Given the description of an element on the screen output the (x, y) to click on. 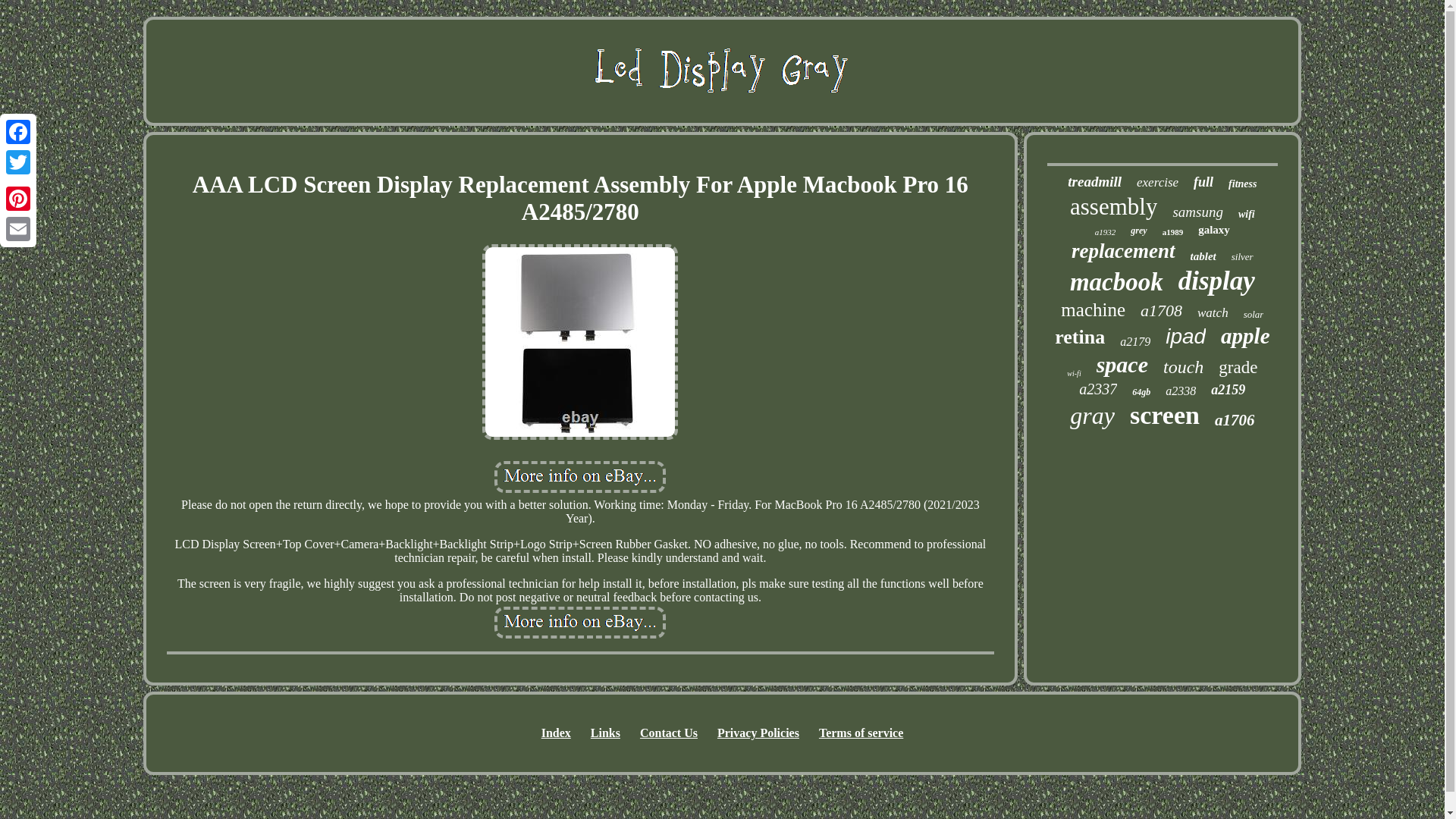
exercise (1157, 182)
samsung (1197, 211)
treadmill (1094, 181)
full (1202, 182)
watch (1212, 313)
solar (1253, 314)
a1932 (1105, 231)
Facebook (17, 132)
Email (17, 228)
display (1216, 281)
